Given the description of an element on the screen output the (x, y) to click on. 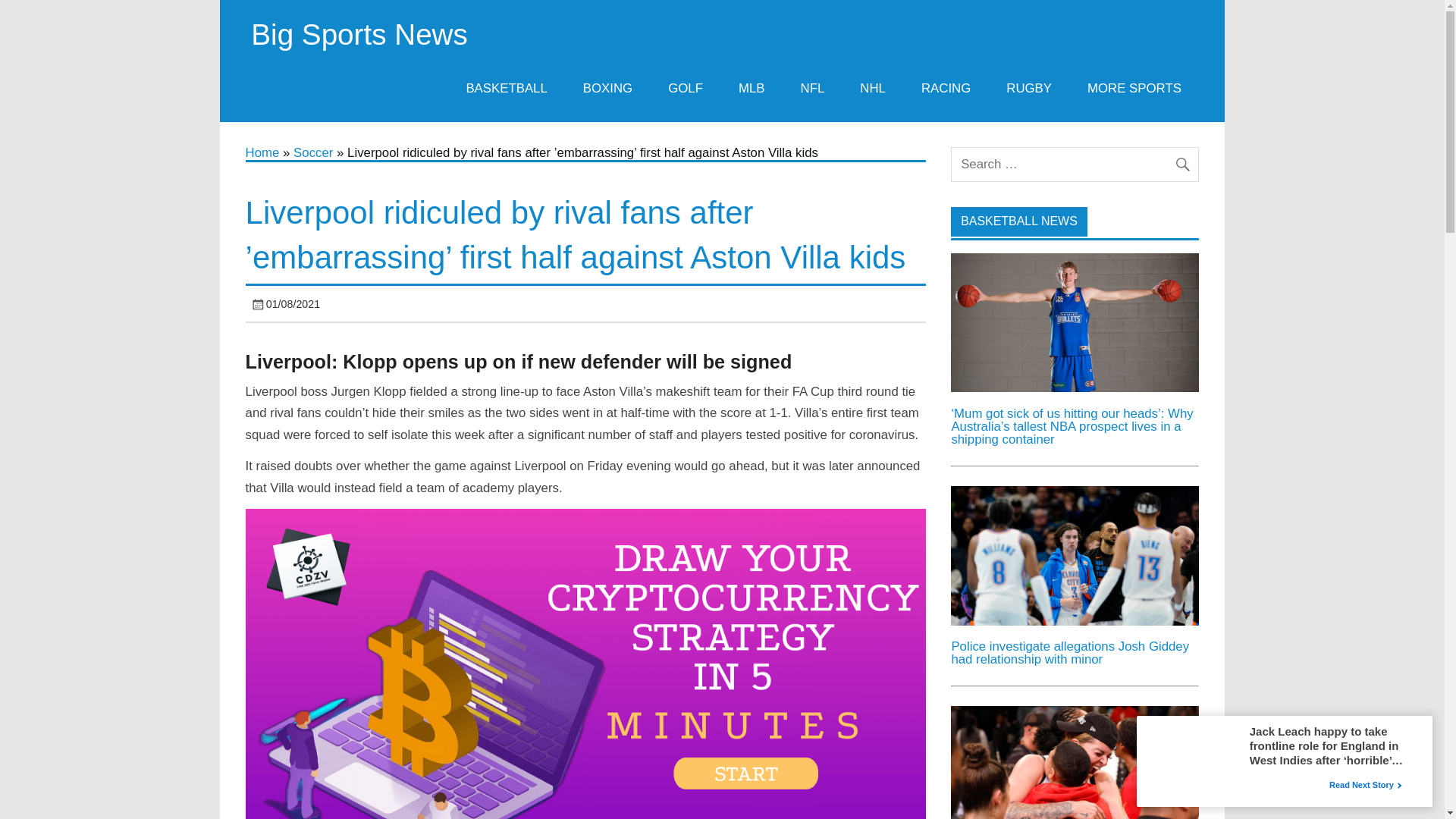
RACING (945, 88)
GOLF (685, 88)
BASKETBALL (506, 88)
NFL (813, 88)
RUGBY (1029, 88)
MLB (751, 88)
MORE SPORTS (1134, 88)
Big Sports News (358, 34)
Home (262, 152)
BOXING (606, 88)
21:36 (293, 304)
NHL (873, 88)
Soccer (313, 152)
